Given the description of an element on the screen output the (x, y) to click on. 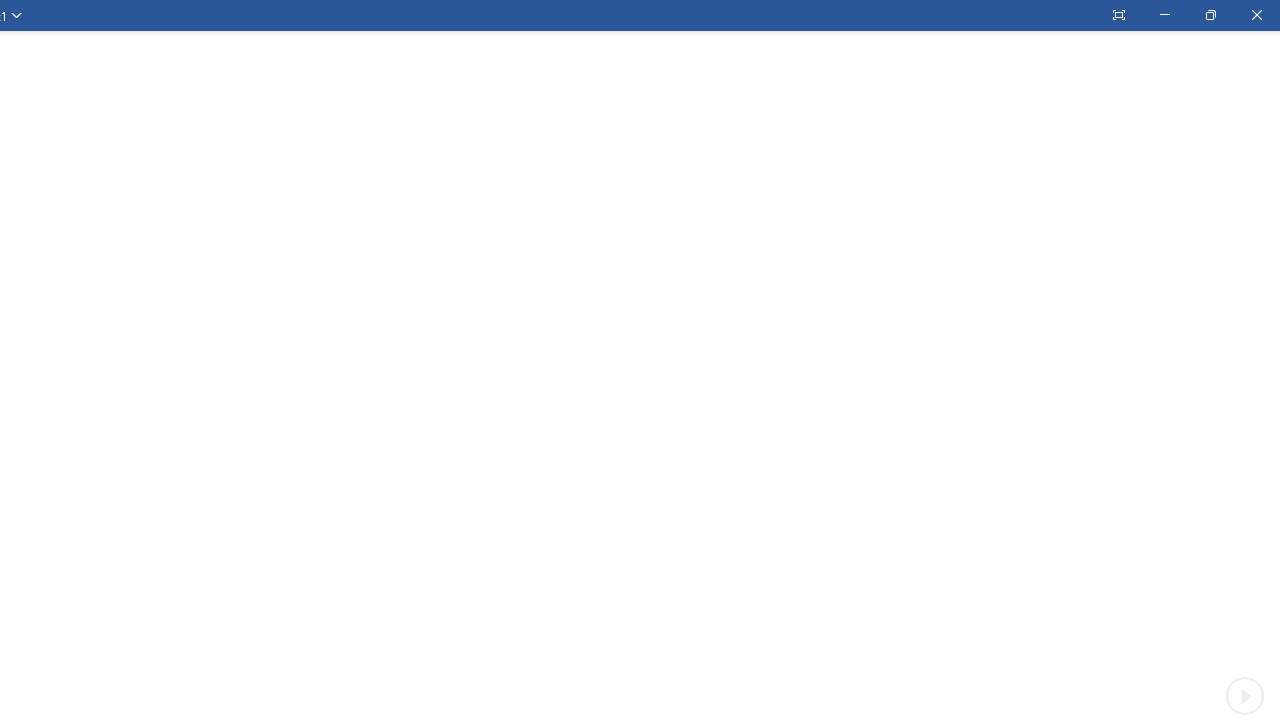
Close (1256, 15)
Restore Down (1210, 15)
Auto-hide Reading Toolbar (1118, 15)
Minimize (1164, 15)
